Given the description of an element on the screen output the (x, y) to click on. 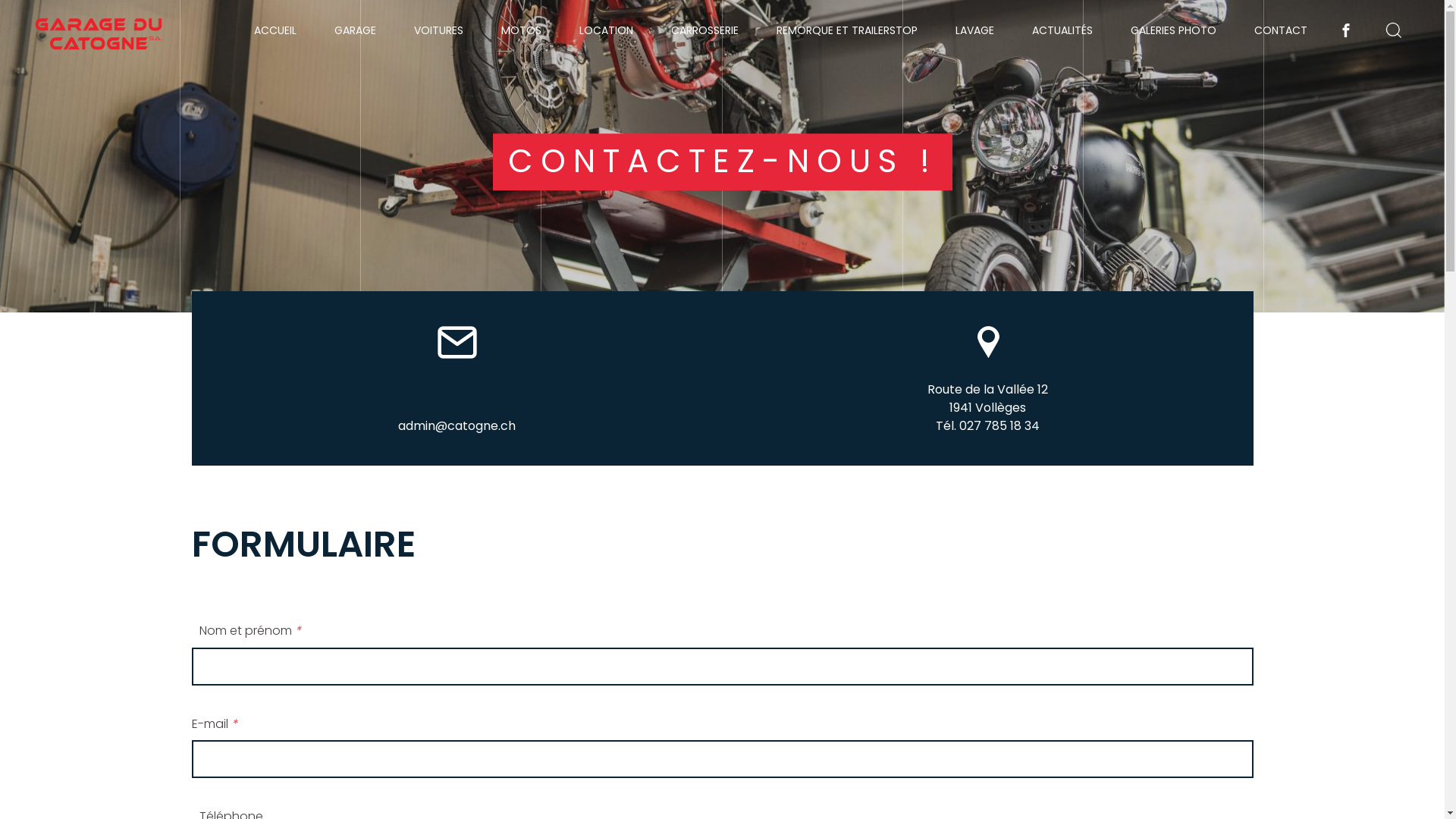
REMORQUE ET TRAILERSTOP Element type: text (846, 30)
LAVAGE Element type: text (974, 30)
ACCUEIL Element type: text (274, 30)
MOTOS Element type: text (520, 30)
LOCATION Element type: text (605, 30)
CONTACT Element type: text (1280, 30)
GARAGE Element type: text (355, 30)
VOITURES Element type: text (438, 30)
GALERIES PHOTO Element type: text (1173, 30)
CARROSSERIE Element type: text (704, 30)
